Given the description of an element on the screen output the (x, y) to click on. 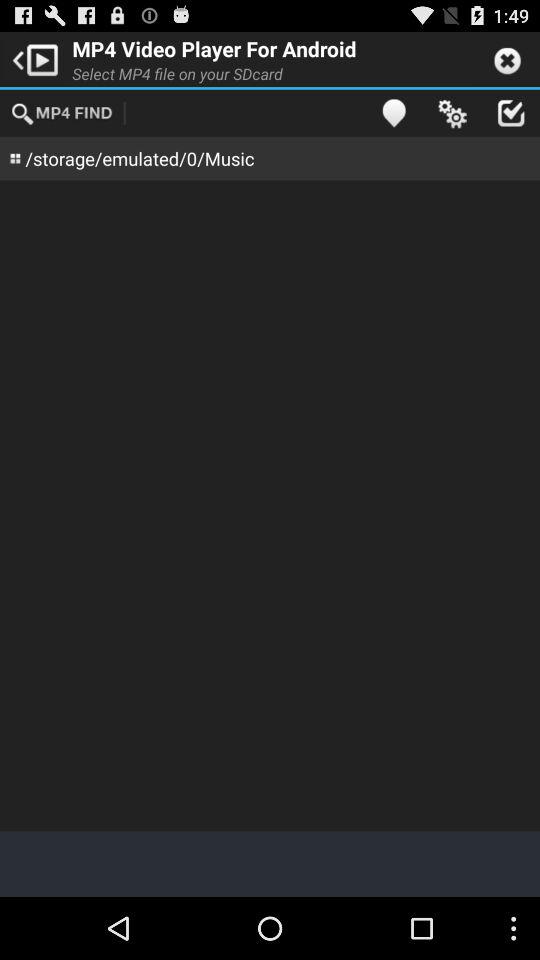
choose item above storage emulated 0 (63, 112)
